Given the description of an element on the screen output the (x, y) to click on. 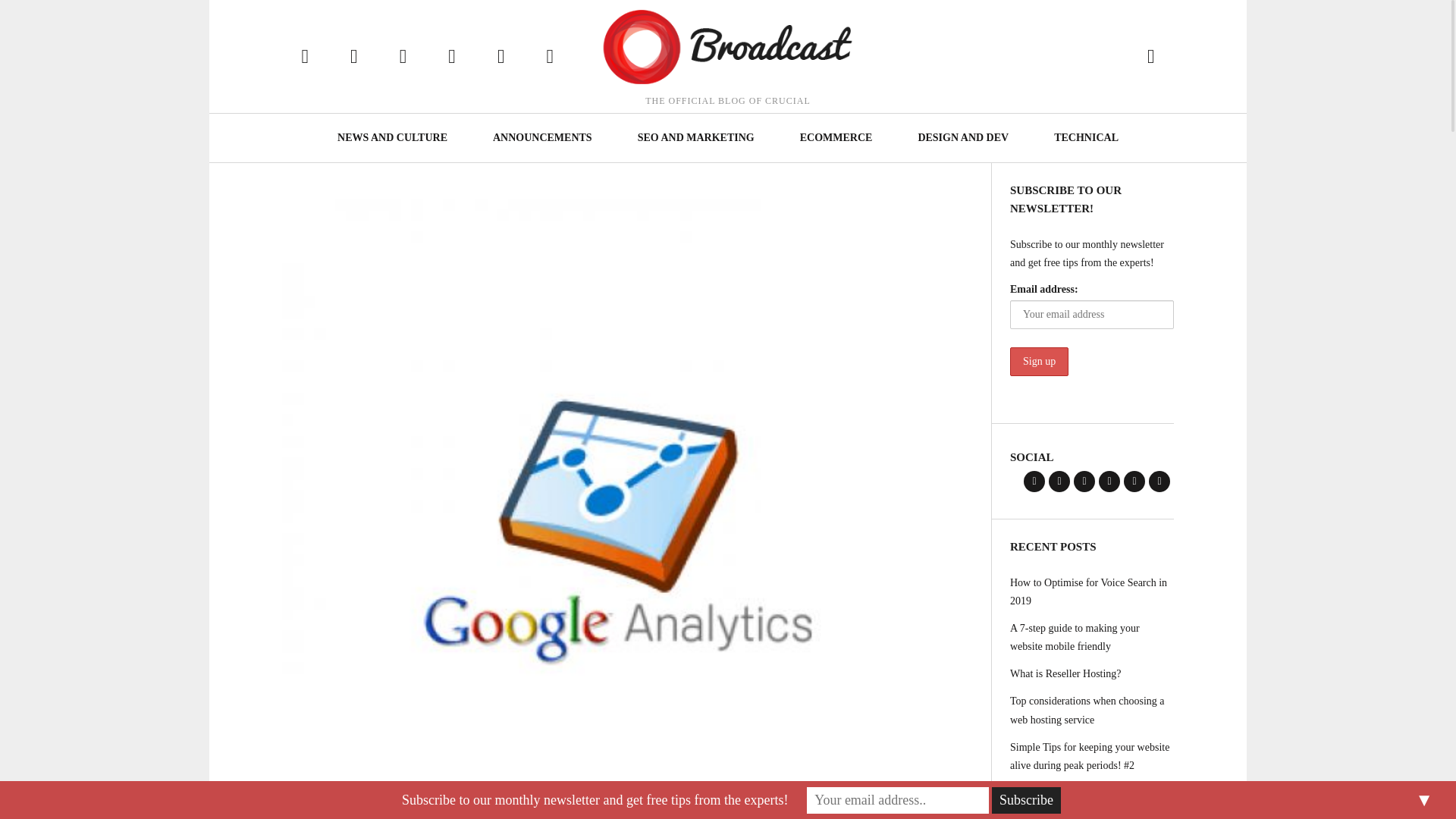
A 7-step guide to making your website mobile friendly Element type: text (1091, 637)
What is Reseller Hosting? Element type: text (1091, 673)
ANNOUNCEMENTS Element type: text (542, 137)
ECOMMERCE Element type: text (836, 137)
How to Optimise for Voice Search in 2019 Element type: text (1091, 592)
NEWS AND CULTURE Element type: text (392, 137)
Subscribe Element type: text (1025, 800)
Broadcast | Crucial Element type: hover (727, 46)
Top considerations when choosing a web hosting service Element type: text (1091, 710)
SEO AND MARKETING Element type: text (696, 137)
DESIGN AND DEV Element type: text (962, 137)
TECHNICAL Element type: text (1086, 137)
Sign up Element type: text (1039, 361)
